Given the description of an element on the screen output the (x, y) to click on. 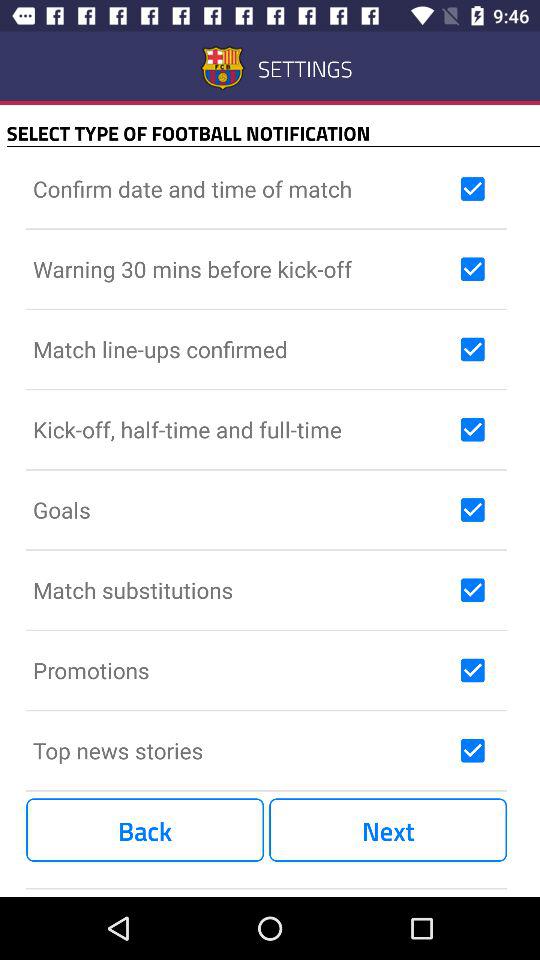
toggle promotions (472, 670)
